Given the description of an element on the screen output the (x, y) to click on. 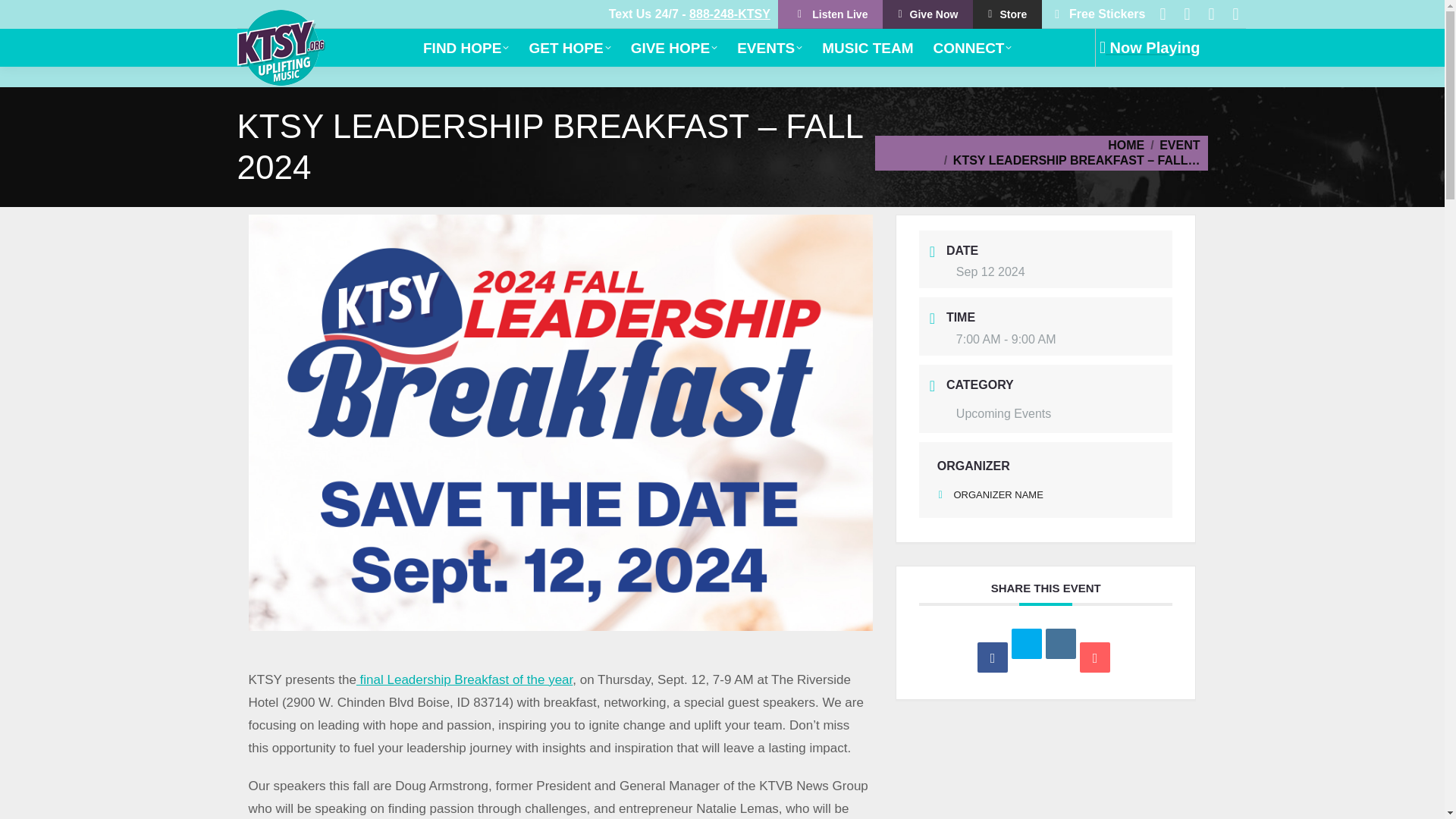
Join The Music Team (866, 48)
Instagram page opens in new window (1234, 14)
Pinterest page opens in new window (1211, 14)
Facebook page opens in new window (1162, 14)
YouTube page opens in new window (1186, 14)
Listen Live (830, 14)
FIND HOPE (465, 48)
888-248-KTSY (729, 13)
GET HOPE (568, 48)
YouTube page opens in new window (1186, 14)
Free Stickers (1096, 13)
Give Now (927, 14)
Pinterest page opens in new window (1211, 14)
Instagram page opens in new window (1234, 14)
Store (1007, 14)
